Given the description of an element on the screen output the (x, y) to click on. 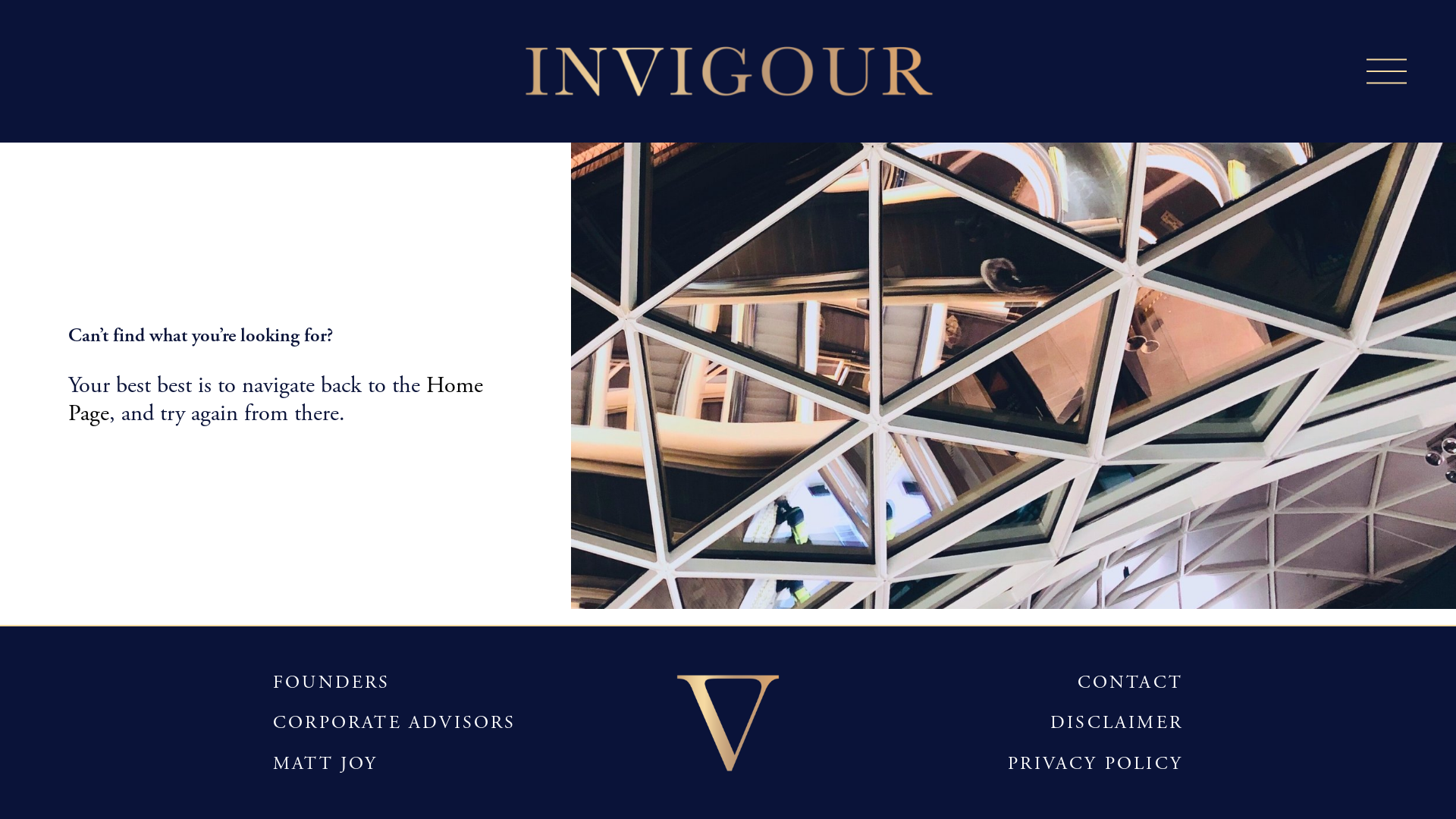
MATT JOY Element type: text (325, 763)
CORPORATE ADVISORS Element type: text (394, 722)
Open Menu Element type: text (1379, 71)
PRIVACY POLICY Element type: text (1095, 763)
CONTACT Element type: text (1130, 682)
DISCLAIMER Element type: text (1116, 722)
FOUNDERS Element type: text (331, 682)
Home Page Element type: text (275, 398)
